Given the description of an element on the screen output the (x, y) to click on. 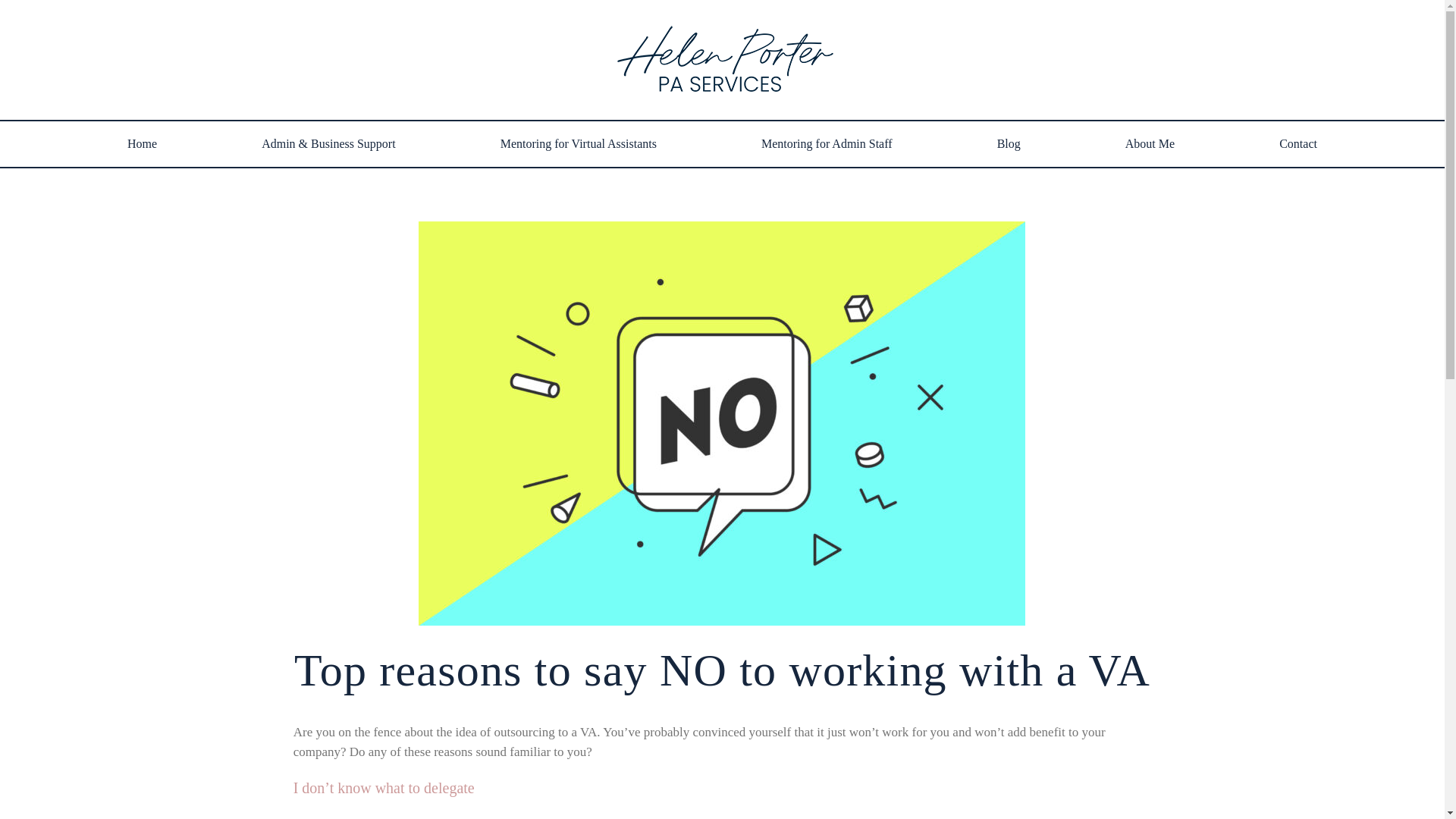
Mentoring for Admin Staff (826, 144)
Mentoring for Virtual Assistants (578, 144)
About Me (1149, 144)
